Given the description of an element on the screen output the (x, y) to click on. 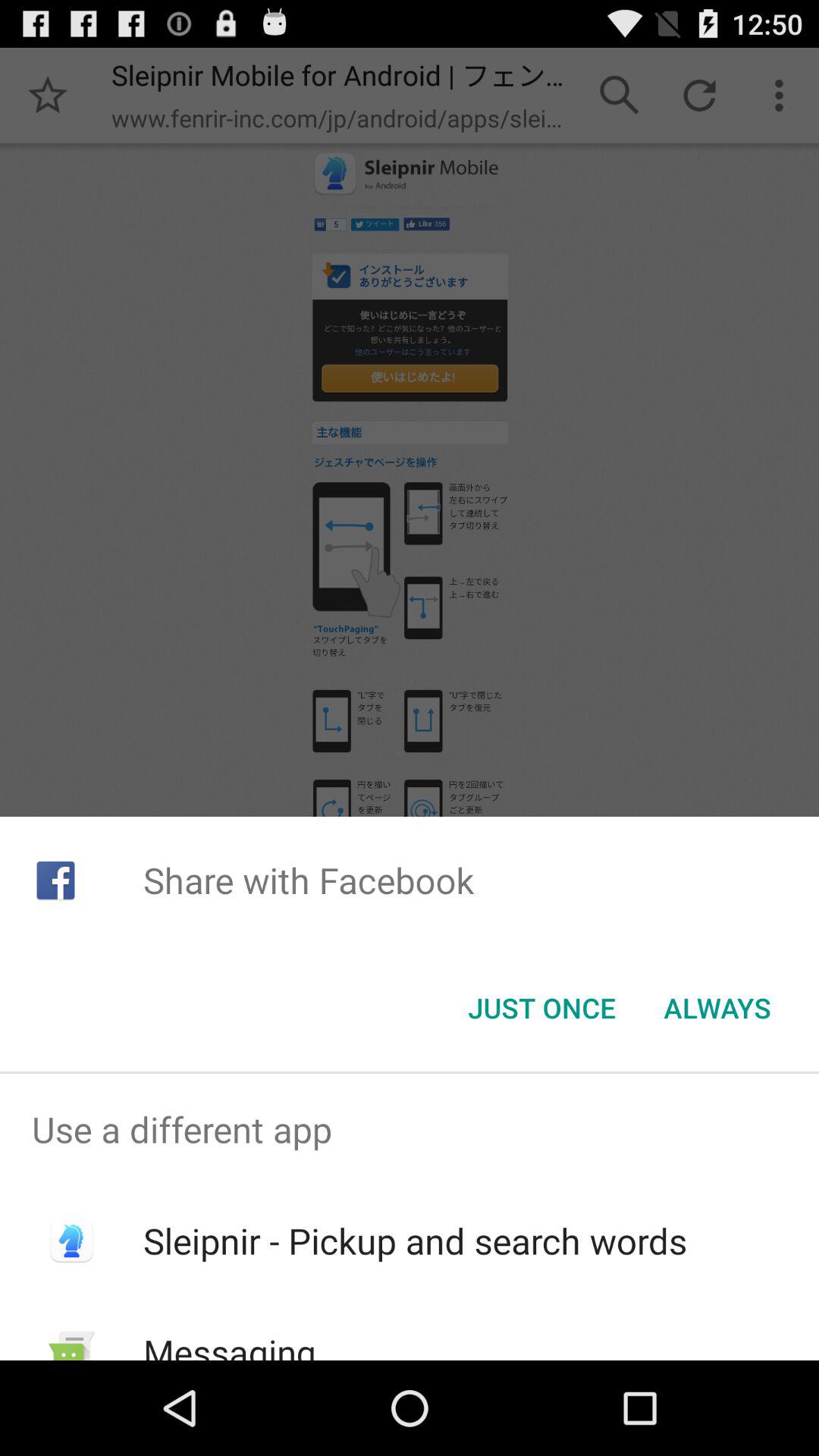
choose the item below share with facebook icon (717, 1007)
